Given the description of an element on the screen output the (x, y) to click on. 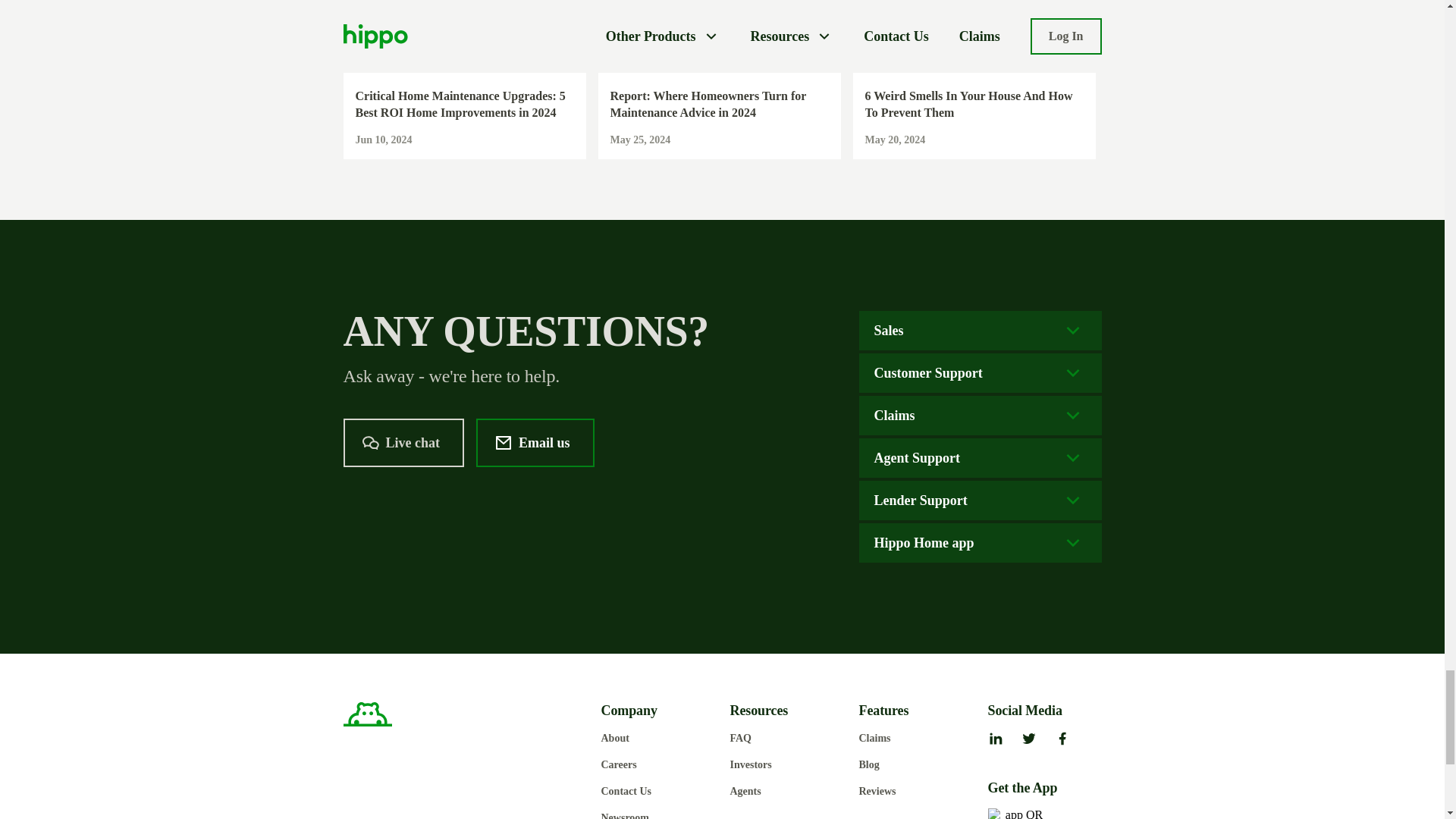
Twitter (1027, 740)
LinkedIn (995, 740)
Facebook (1061, 740)
